Given the description of an element on the screen output the (x, y) to click on. 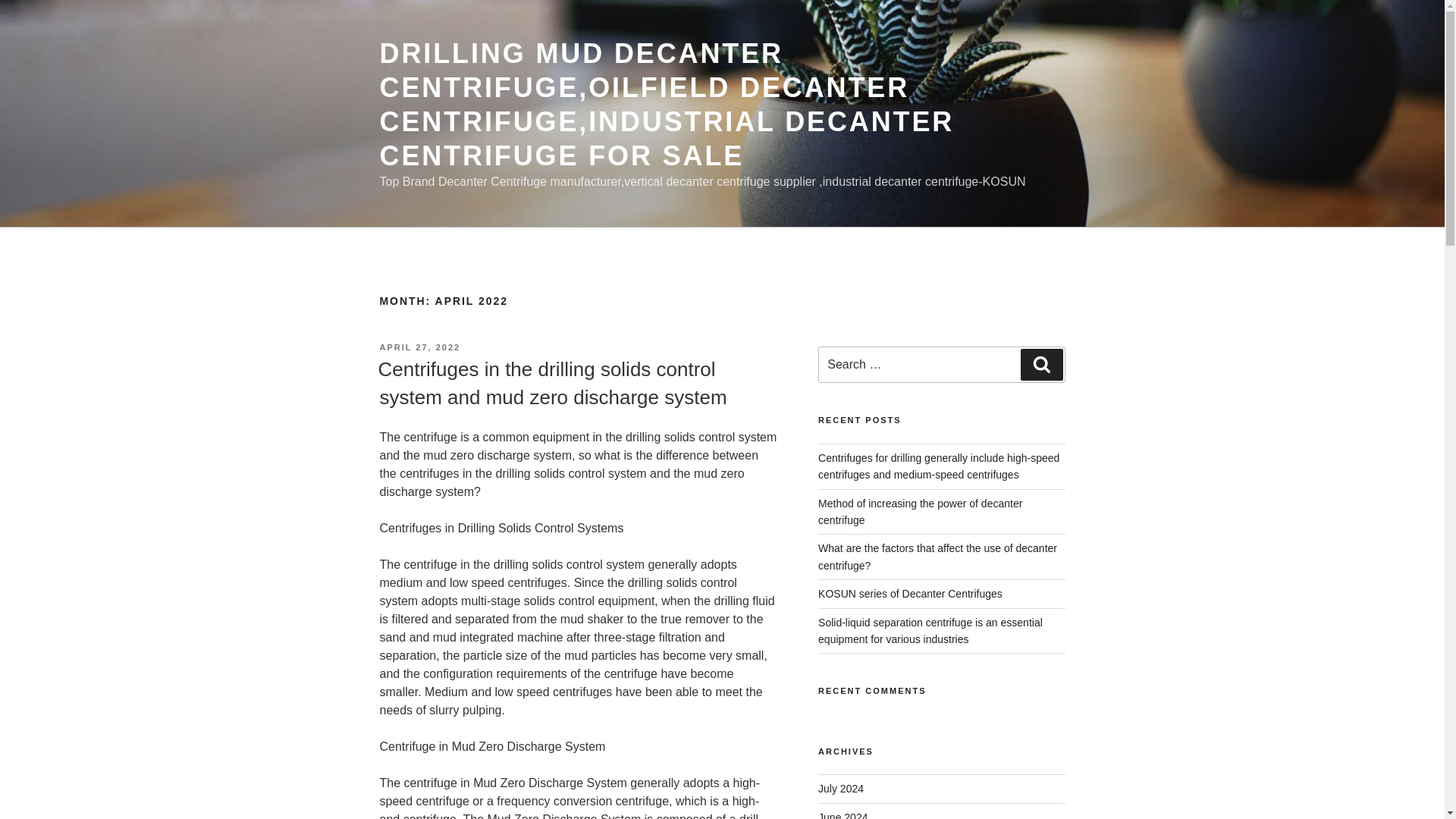
KOSUN series of Decanter Centrifuges (910, 593)
July 2024 (840, 788)
June 2024 (842, 815)
APRIL 27, 2022 (419, 347)
Search (1041, 364)
